Given the description of an element on the screen output the (x, y) to click on. 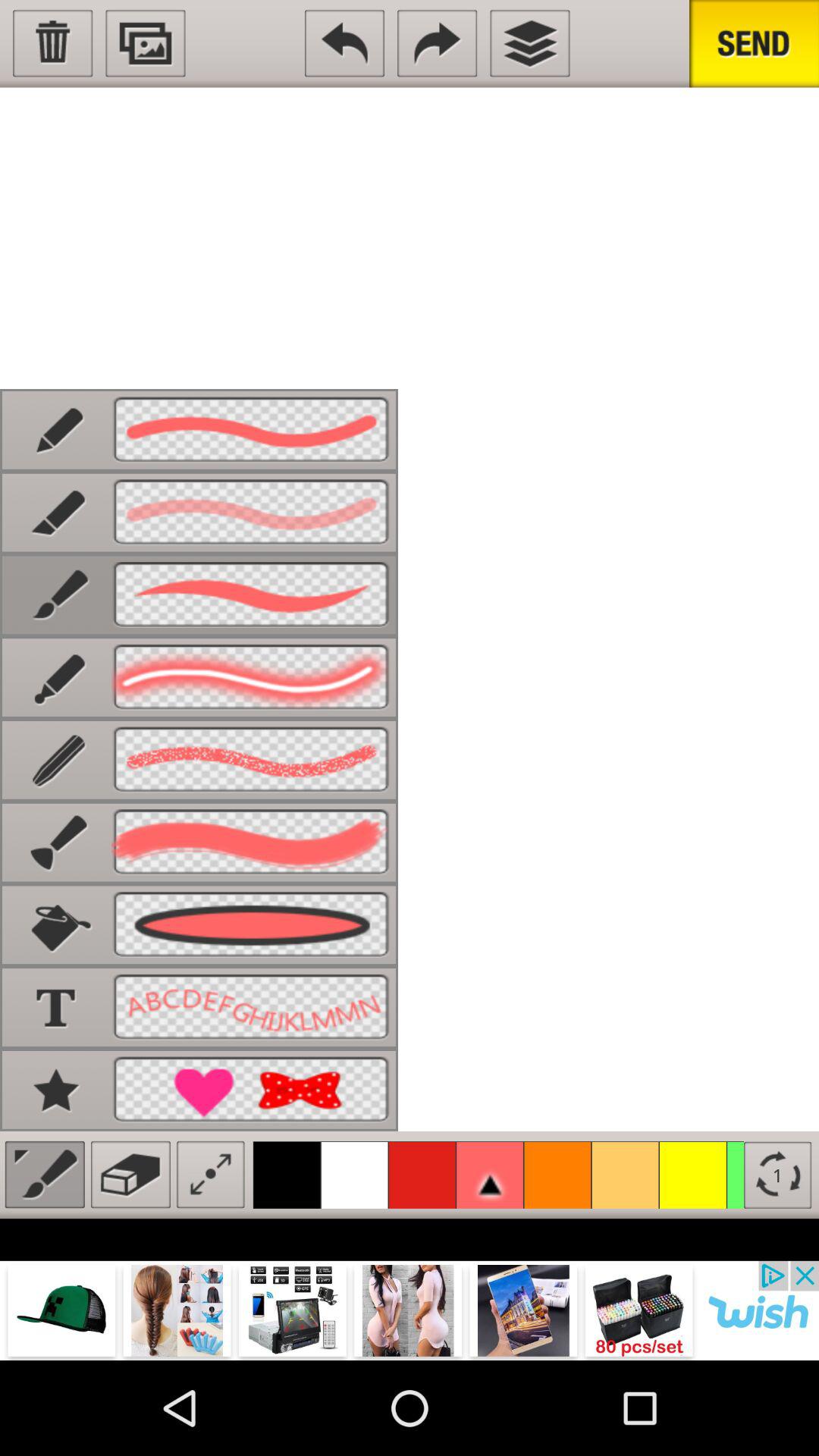
select layer (529, 43)
